Given the description of an element on the screen output the (x, y) to click on. 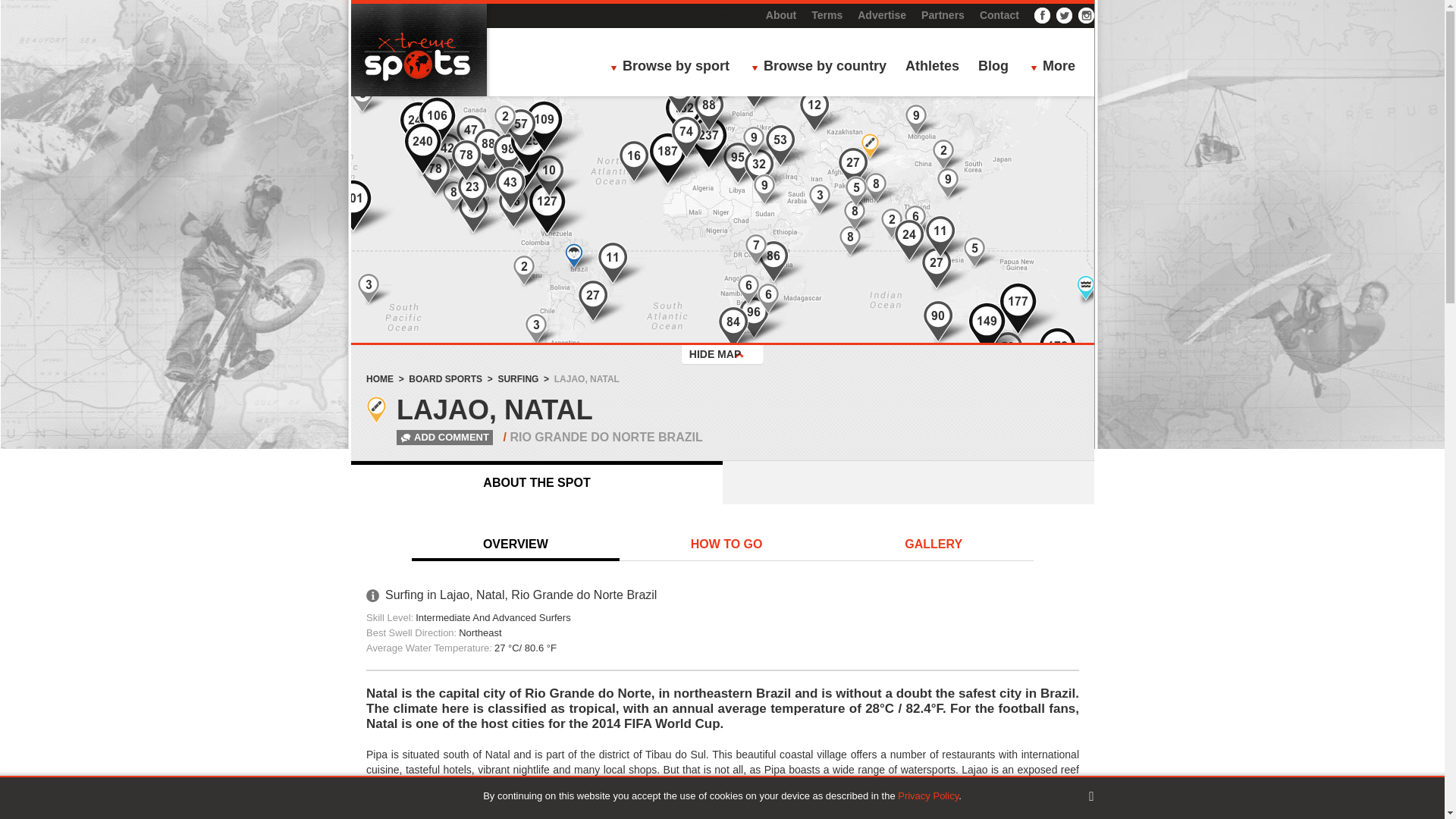
Browse by sport (674, 67)
Advertise (881, 15)
Terms (826, 15)
Blog (993, 67)
ADD COMMENT (431, 437)
HOME (379, 378)
HOW TO GO (727, 545)
Browse by country (823, 67)
More (1056, 67)
SURFING (517, 378)
